Given the description of an element on the screen output the (x, y) to click on. 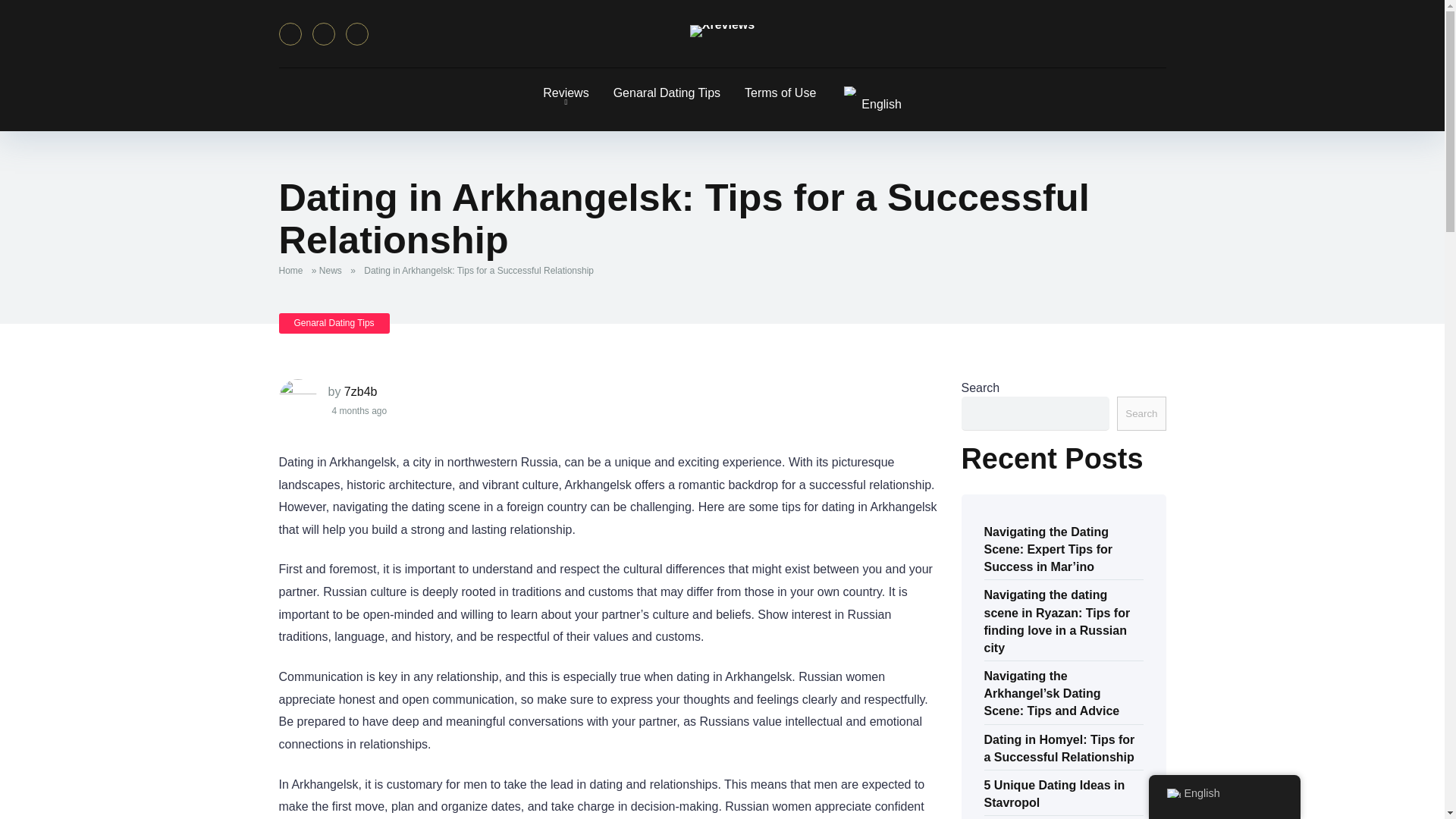
Home (293, 270)
Genaral Dating Tips (666, 93)
Xreviews (722, 30)
Terms of Use (780, 93)
7zb4b (360, 391)
Genaral Dating Tips (334, 322)
News (332, 270)
Reviews (565, 93)
Facebook (290, 33)
English (870, 99)
English (850, 90)
Dating in Homyel: Tips for a Successful Relationship (1059, 747)
Instagram (357, 33)
Twitter (323, 33)
